Given the description of an element on the screen output the (x, y) to click on. 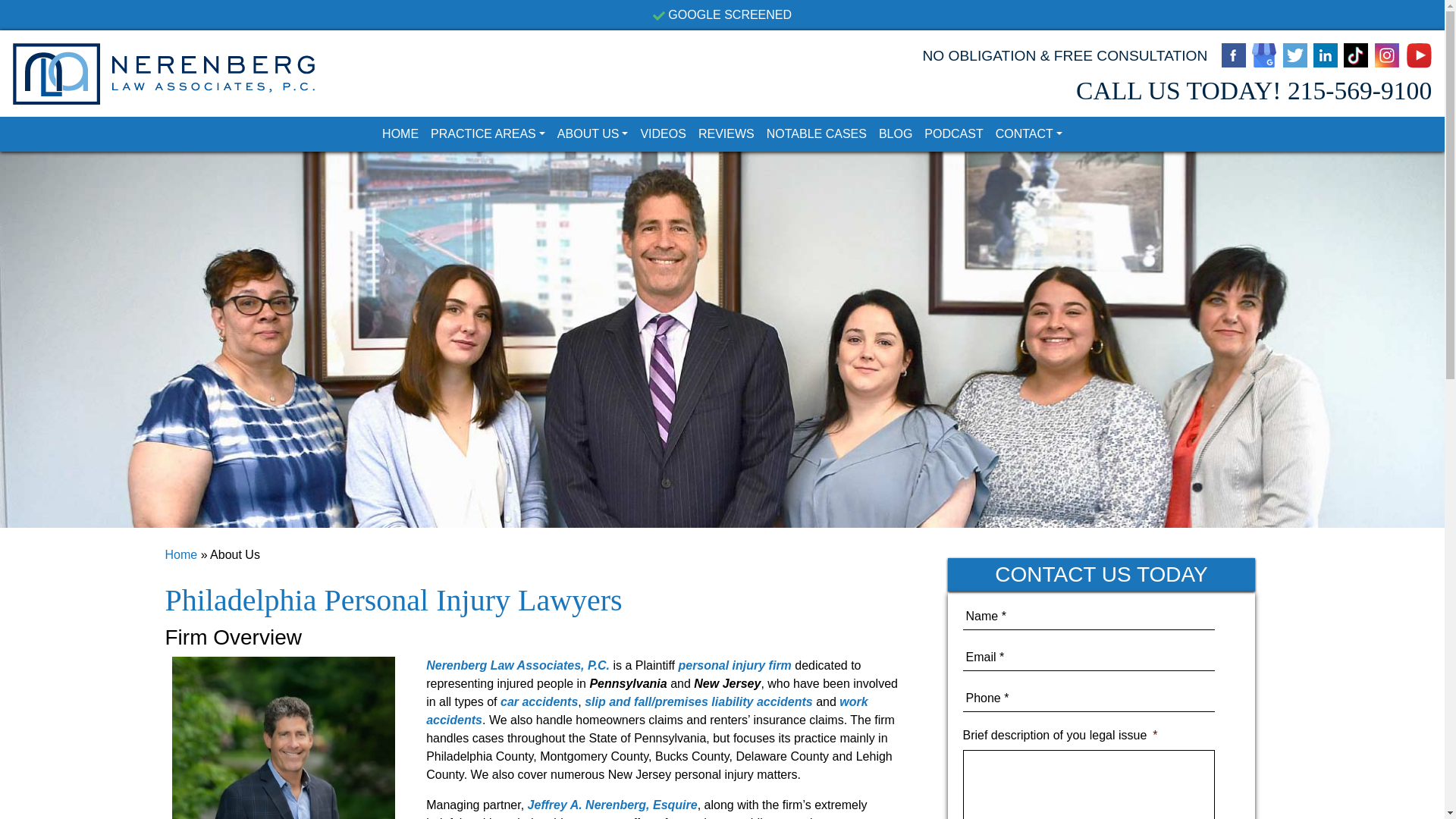
ABOUT US (592, 133)
PODCAST (953, 133)
PRACTICE AREAS (488, 133)
CONTACT (1029, 133)
VIDEOS (662, 133)
BLOG (895, 133)
215-569-9100 (1359, 90)
NOTABLE CASES (816, 133)
REVIEWS (726, 133)
HOME (400, 133)
